Given the description of an element on the screen output the (x, y) to click on. 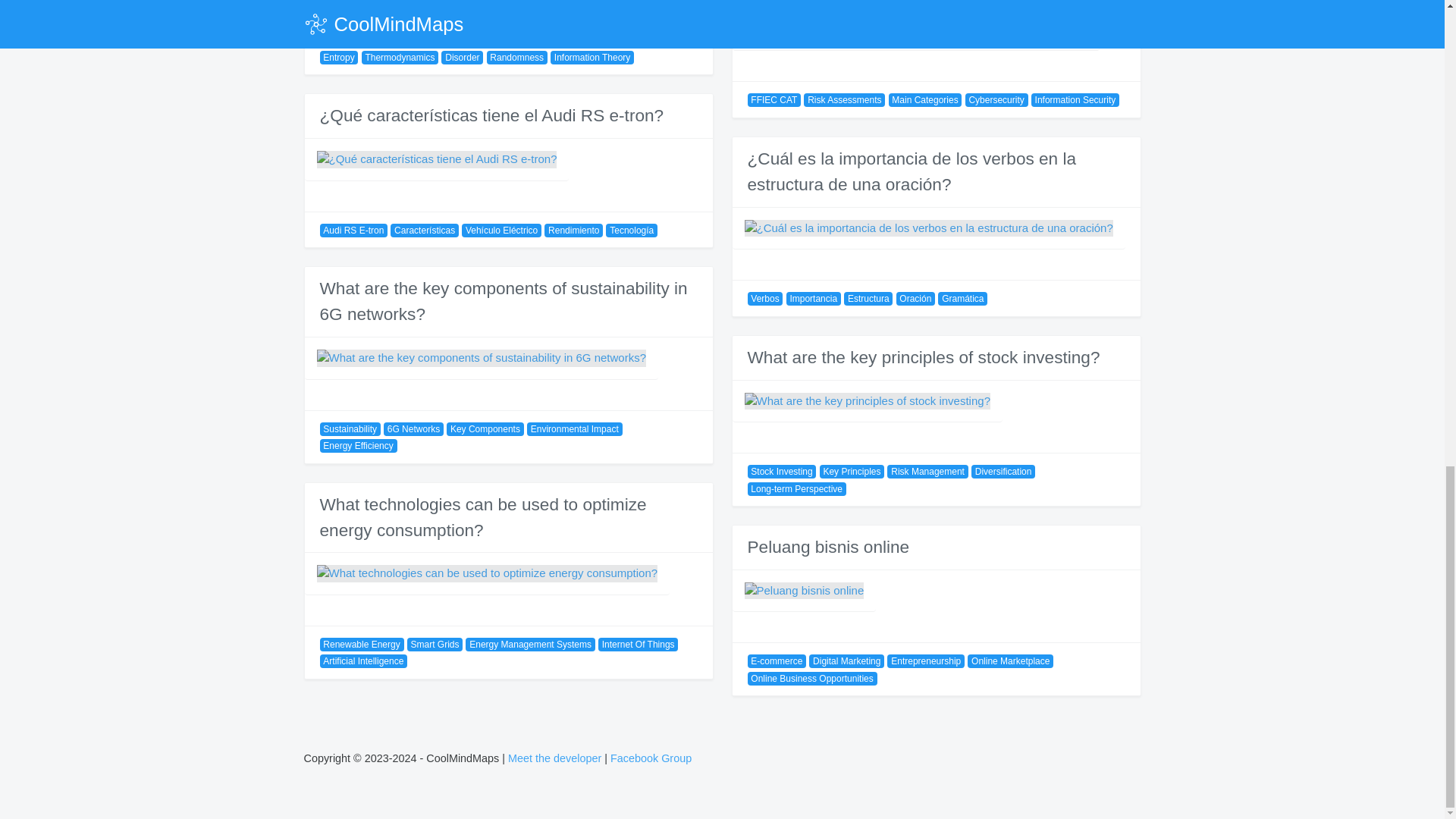
Facebook Group (650, 758)
Meet the developer (554, 758)
Peluang bisnis online (829, 546)
What are the key principles of stock investing? (924, 357)
